Given the description of an element on the screen output the (x, y) to click on. 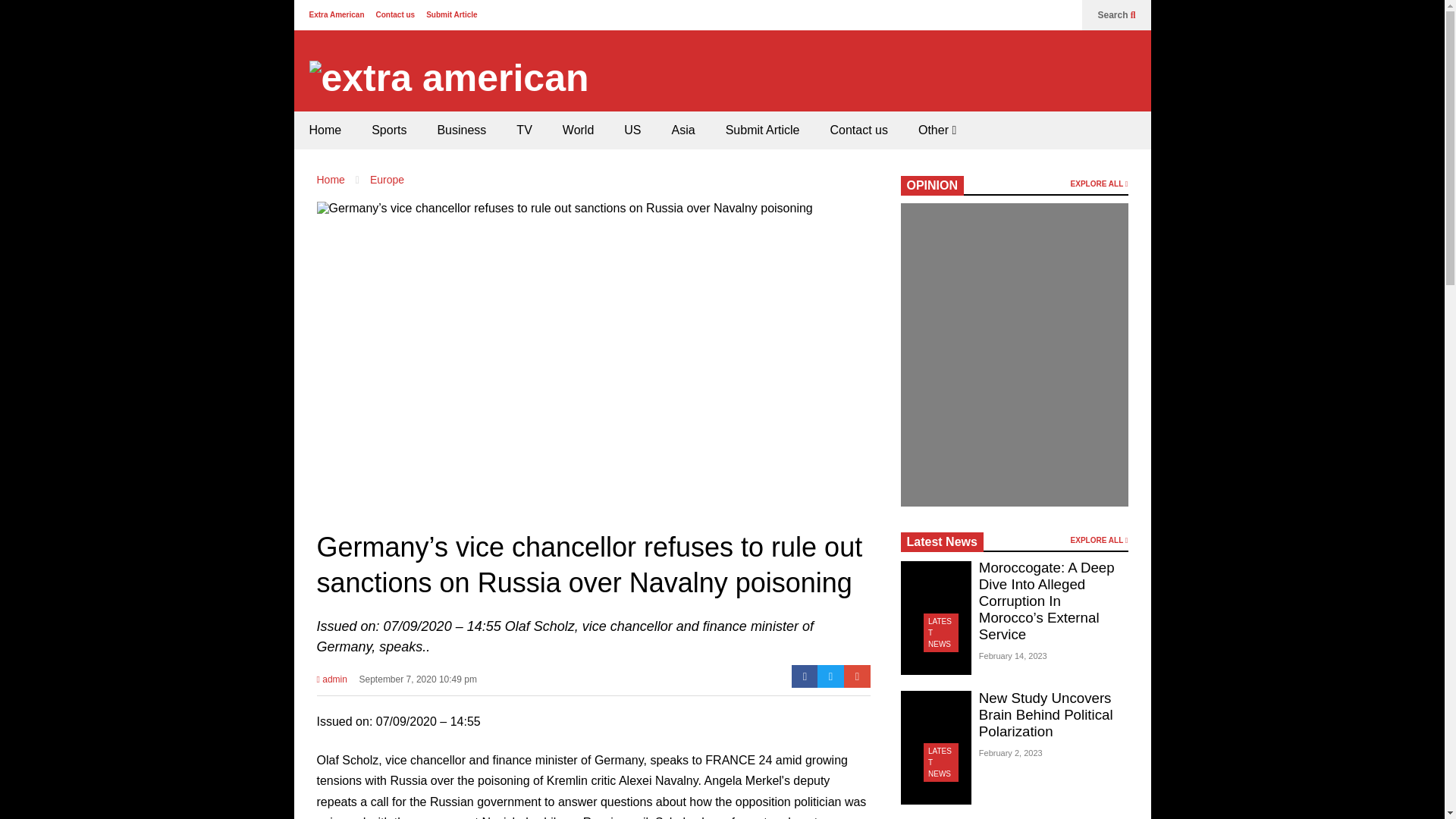
Facebook (805, 676)
World (578, 130)
US (632, 130)
Extra American (336, 14)
Twitter (830, 676)
Asia (683, 130)
Europe (386, 179)
extra american (448, 78)
Submit Article (762, 130)
Home (325, 130)
